Given the description of an element on the screen output the (x, y) to click on. 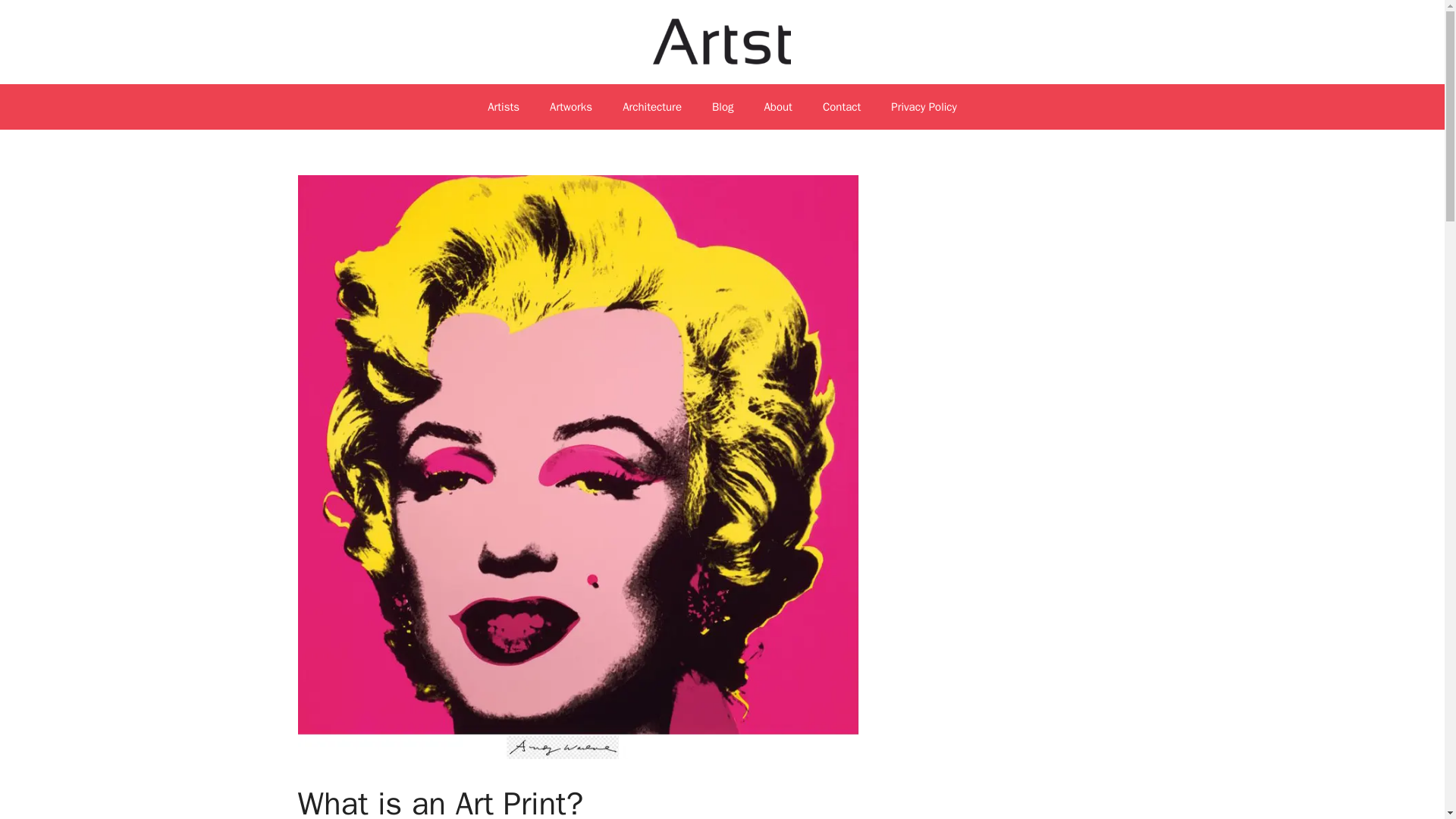
Blog (722, 106)
Privacy Policy (924, 106)
About (777, 106)
Contact (842, 106)
Artworks (570, 106)
Architecture (652, 106)
Artists (502, 106)
